Given the description of an element on the screen output the (x, y) to click on. 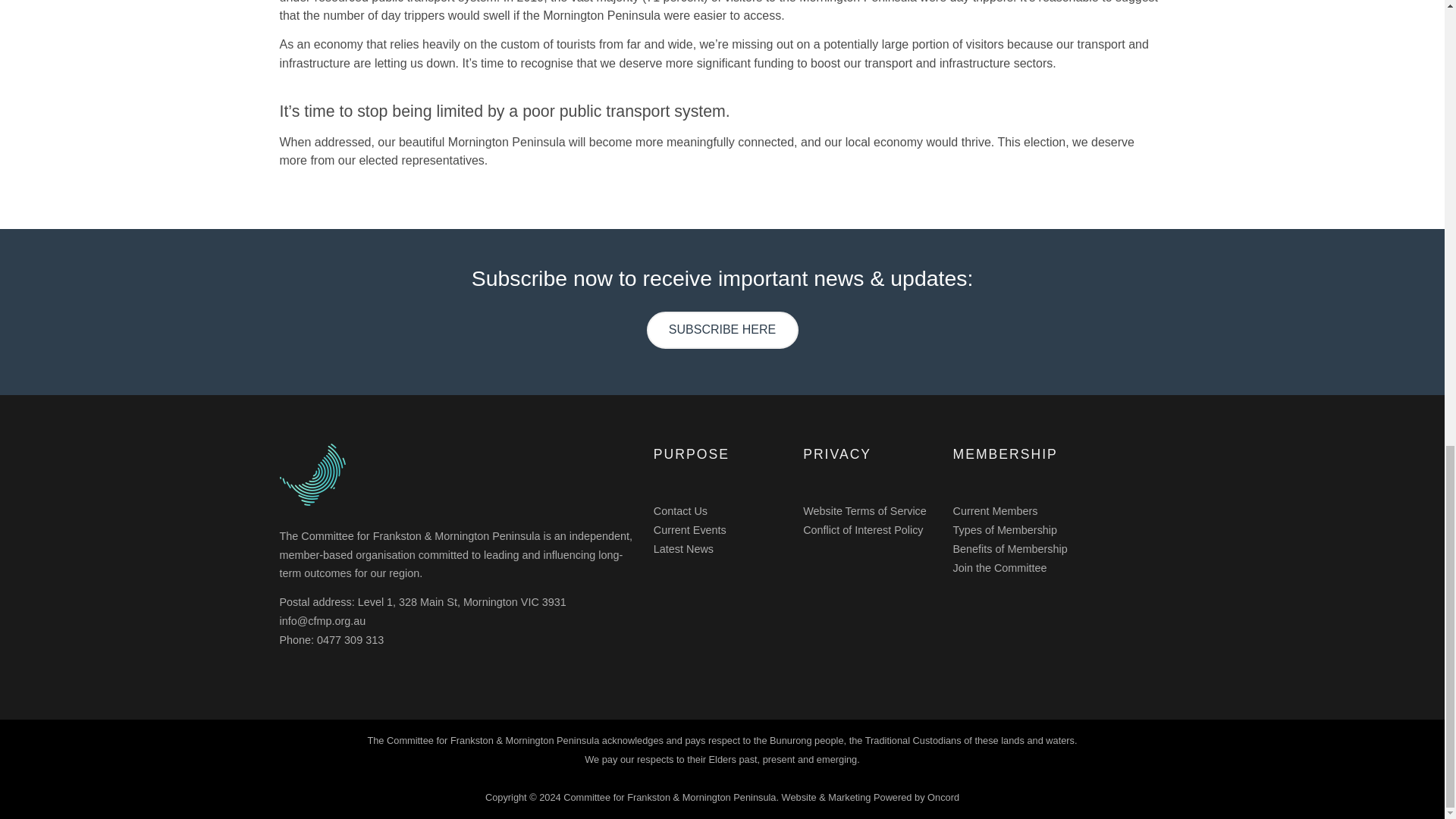
Contact Us (680, 510)
Latest News (683, 548)
Current Members (994, 510)
SUBSCRIBE HERE (721, 330)
Current Events (689, 530)
Website Terms of Service (864, 510)
Types of Membership (1004, 530)
Conflict of Interest Policy (863, 530)
